Given the description of an element on the screen output the (x, y) to click on. 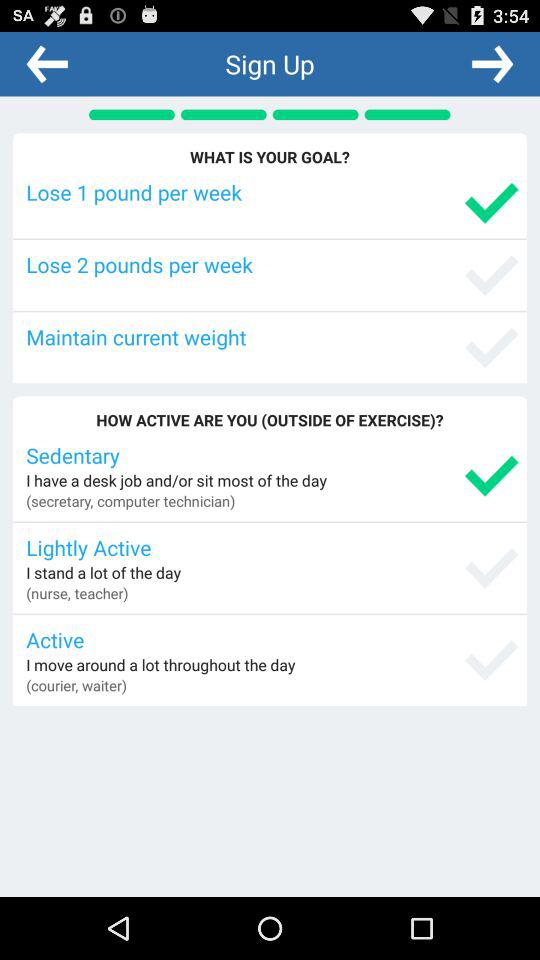
jump to lightly active app (272, 547)
